Given the description of an element on the screen output the (x, y) to click on. 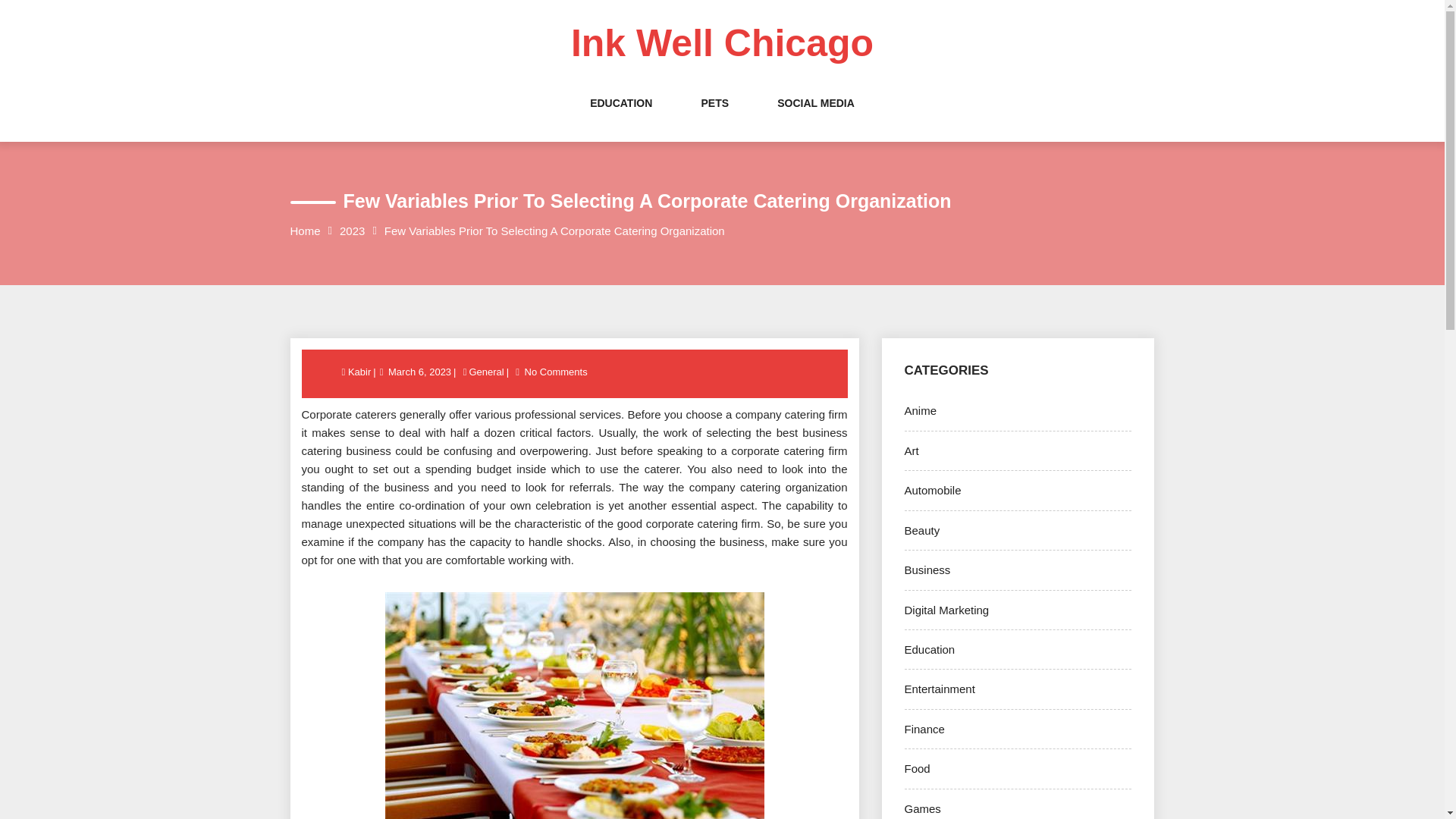
Digital Marketing (946, 609)
March 6, 2023 (418, 371)
EDUCATION (620, 118)
Games (922, 808)
Ink Well Chicago (721, 43)
2023 (352, 230)
Education (929, 649)
Food (917, 768)
No Comments (555, 371)
Automobile (932, 490)
